Given the description of an element on the screen output the (x, y) to click on. 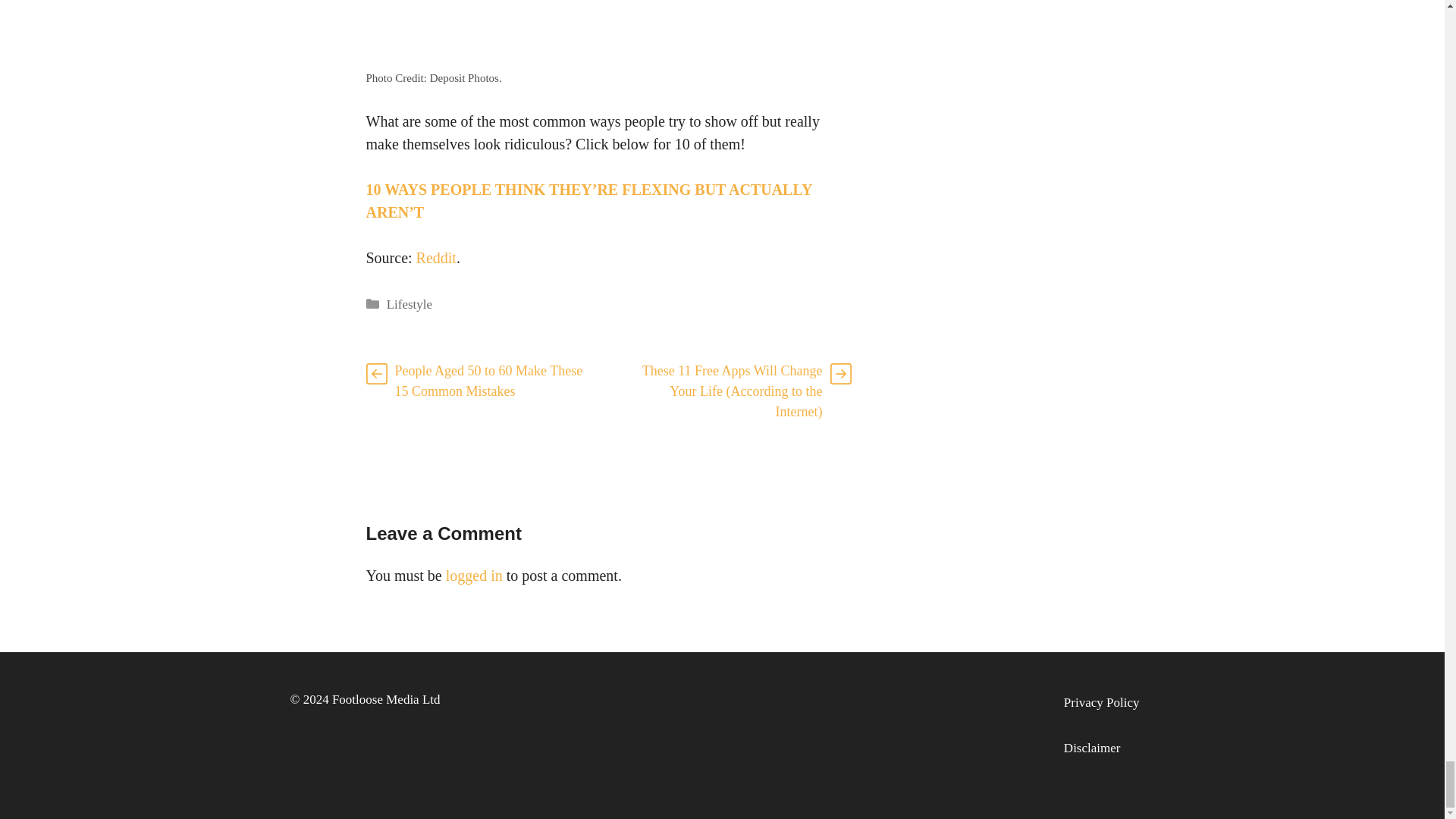
Disclaimer (1092, 748)
Privacy Policy (1102, 702)
logged in (473, 575)
Lifestyle (409, 304)
Reddit (436, 256)
People Aged 50 to 60 Make These 15 Common Mistakes (488, 380)
